Given the description of an element on the screen output the (x, y) to click on. 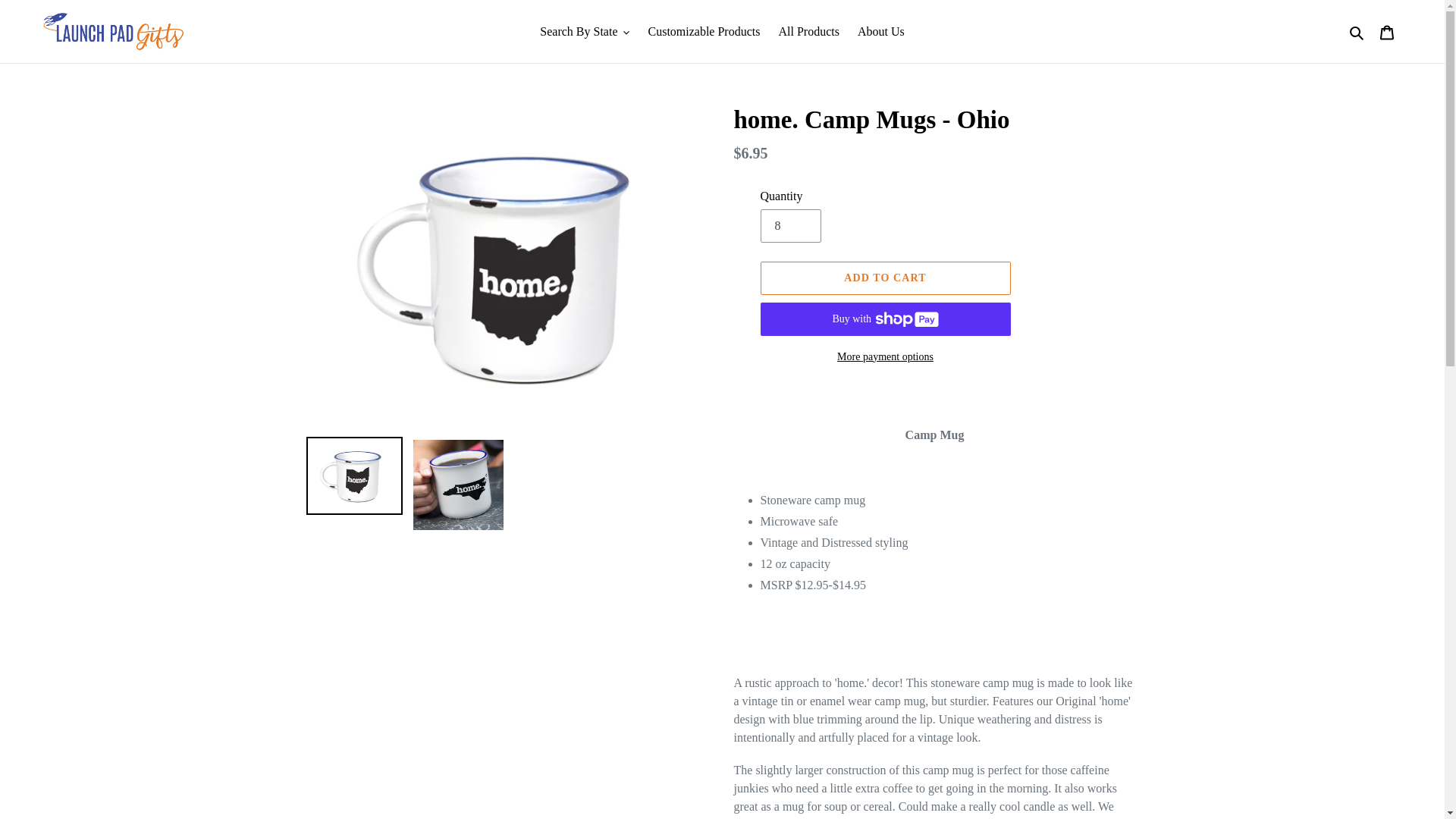
Search By State (584, 30)
8 (790, 225)
